Given the description of an element on the screen output the (x, y) to click on. 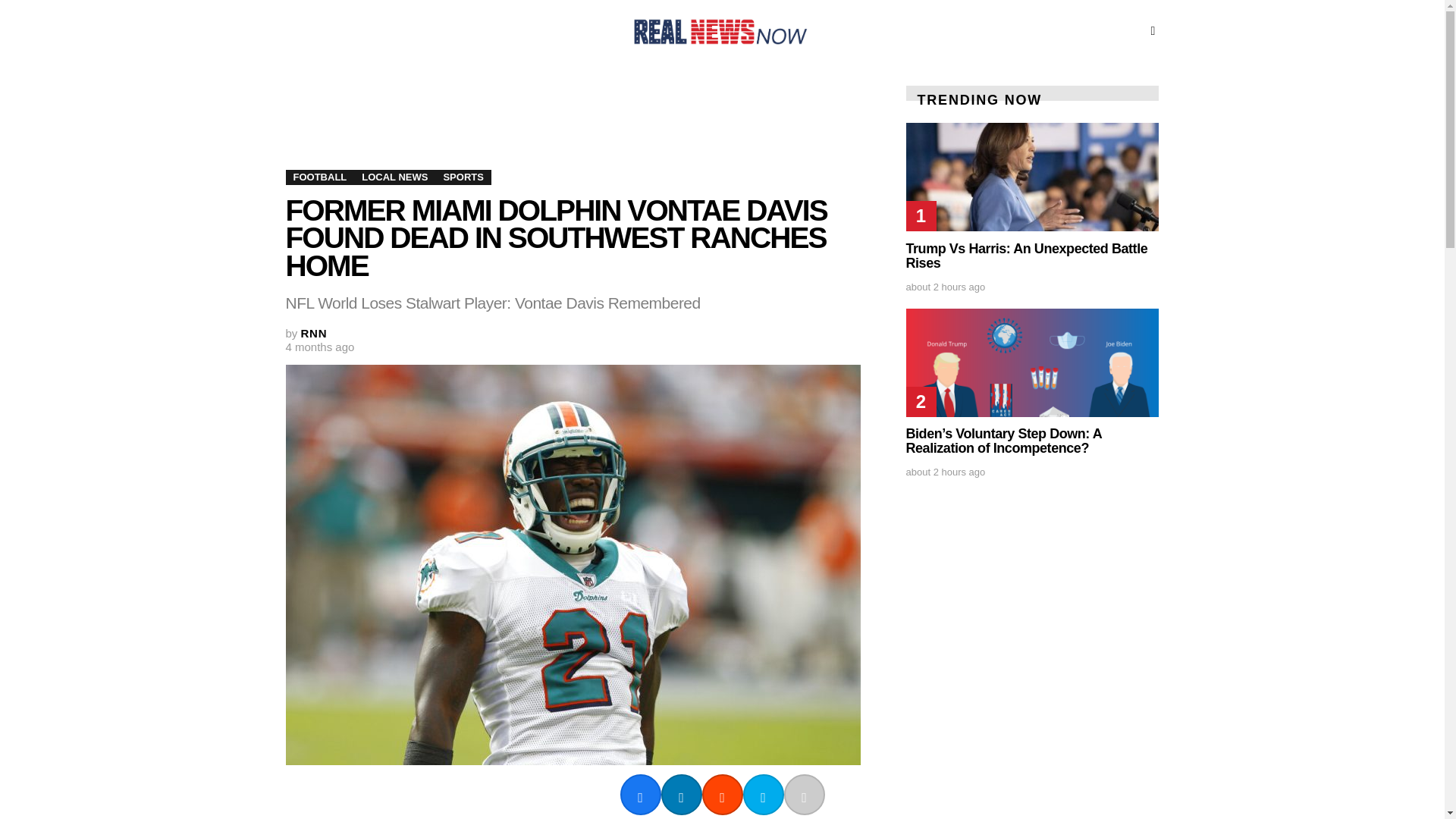
Advertisement (561, 125)
FOOTBALL (319, 177)
RNN (314, 332)
SPORTS (462, 177)
July 21, 2024, 10:00 pm (945, 287)
Trump Vs Harris: An Unexpected Battle Rises (1026, 255)
LOCAL NEWS (394, 177)
Trump Vs Harris: An Unexpected Battle Rises (1031, 176)
July 21, 2024, 10:00 pm (945, 472)
April 1, 2024, 7:34 pm (319, 346)
Posts by RNN (314, 332)
